Given the description of an element on the screen output the (x, y) to click on. 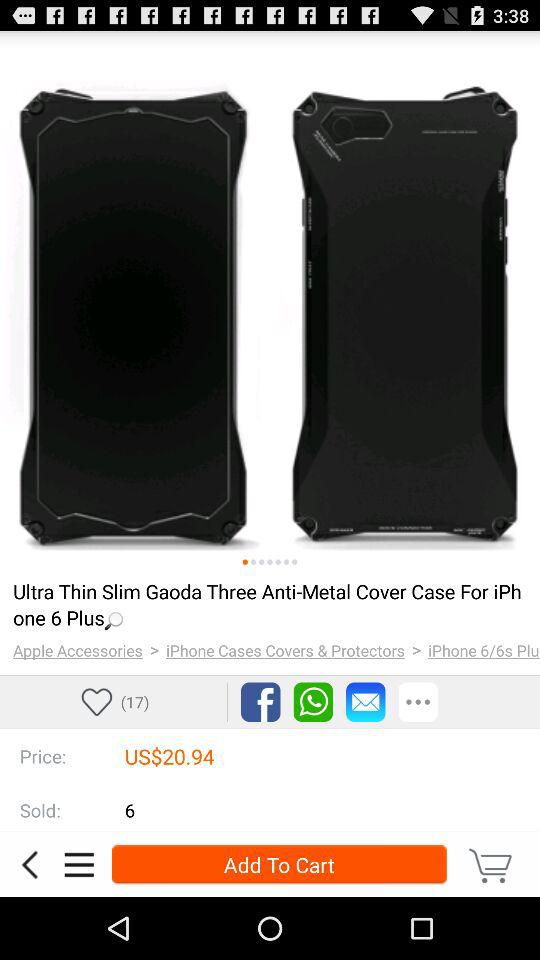
details about product (79, 864)
